Given the description of an element on the screen output the (x, y) to click on. 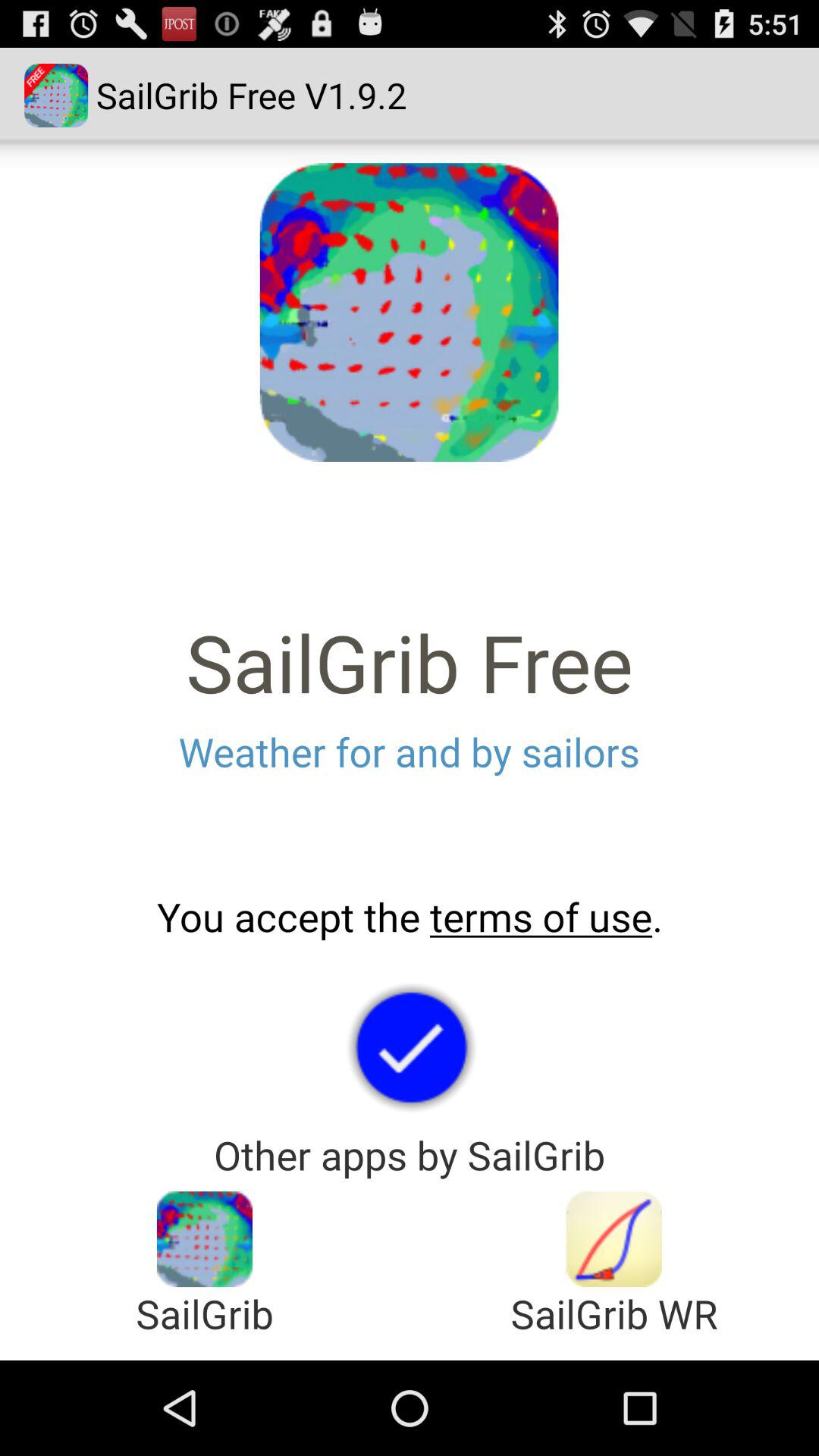
confirmation button (409, 1046)
